Given the description of an element on the screen output the (x, y) to click on. 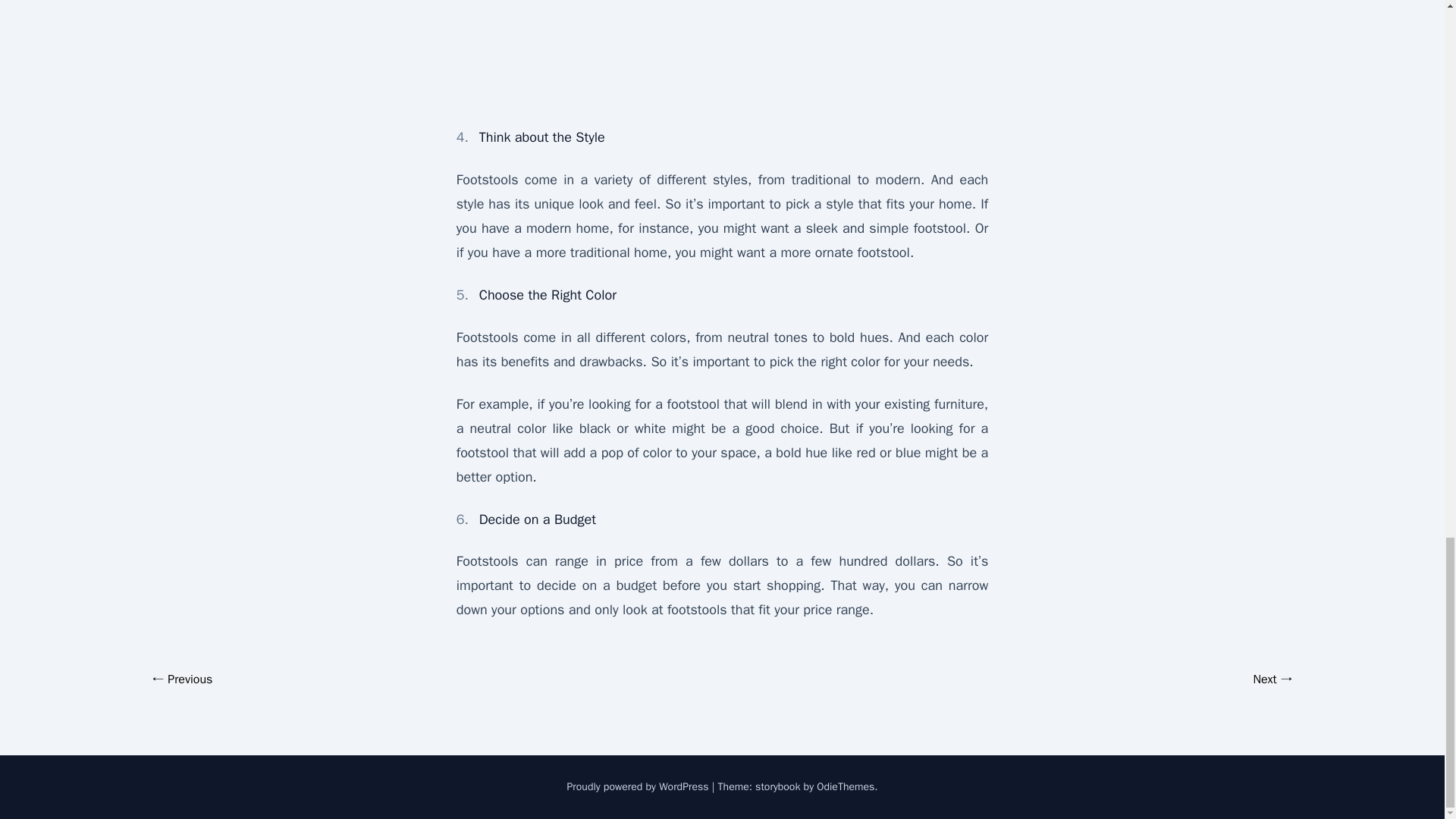
Proudly powered by WordPress (639, 786)
OdieThemes (845, 786)
